Given the description of an element on the screen output the (x, y) to click on. 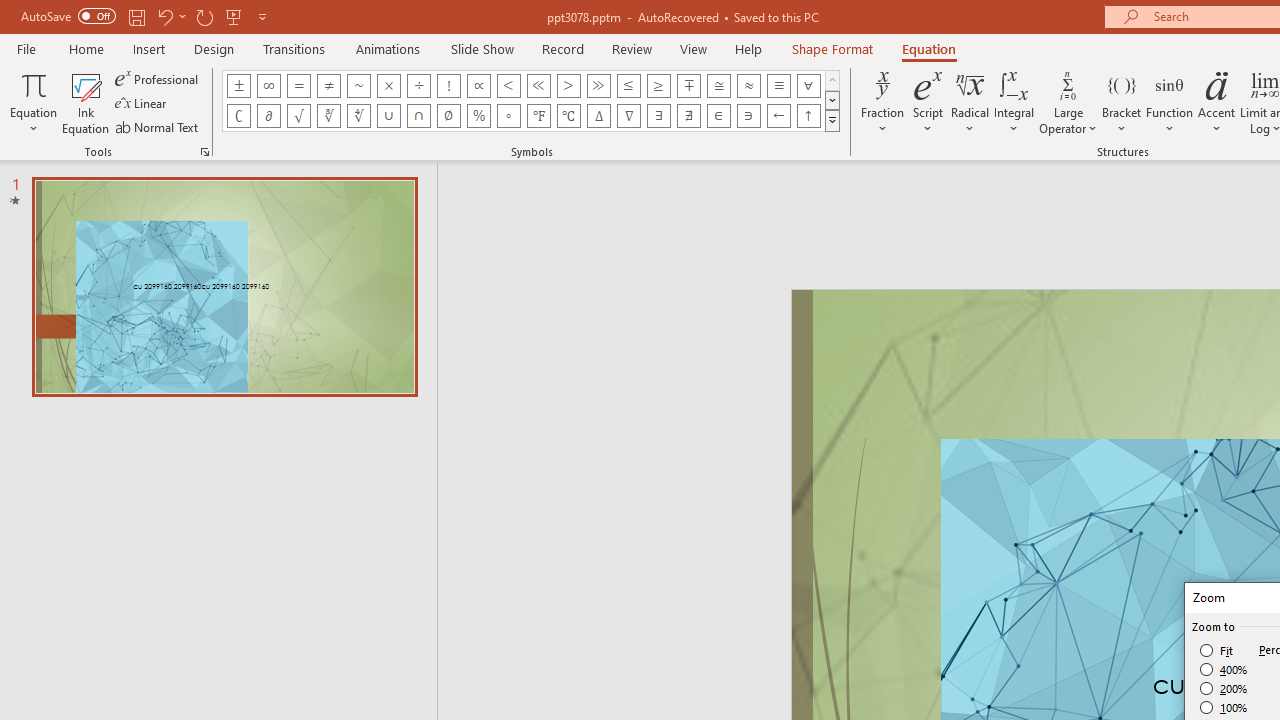
Ink Equation (86, 102)
Equation Symbol Up Arrow (808, 115)
Equation Options... (204, 151)
Equation Symbol Minus Plus (689, 85)
Equation Symbol Empty Set (448, 115)
Equation Symbol For All (808, 85)
Equation Symbol Degrees Fahrenheit (538, 115)
Radical (970, 102)
Equation Symbol Less Than or Equal To (628, 85)
Equation Symbol Radical Sign (298, 115)
Equation Symbol Percentage (478, 115)
